Given the description of an element on the screen output the (x, y) to click on. 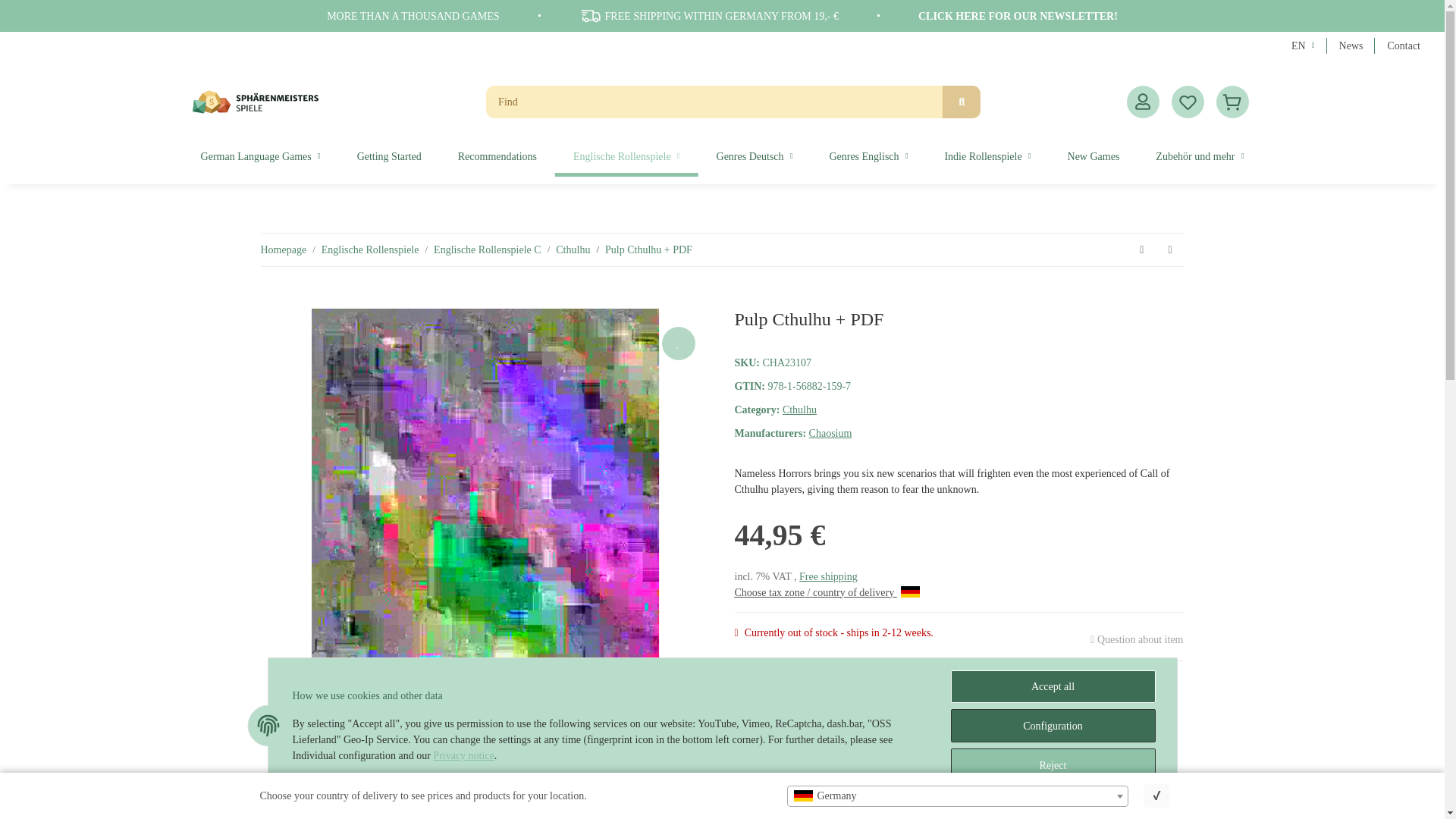
Contact-Form (1403, 45)
Sphaerenmeister (255, 101)
New Games (1093, 156)
CLICK HERE FOR OUR NEWSLETTER! (1018, 16)
Recommendations (496, 156)
EN (1302, 45)
New Games (1093, 156)
Contact (1403, 45)
News (1350, 45)
Getting Started (389, 156)
